Given the description of an element on the screen output the (x, y) to click on. 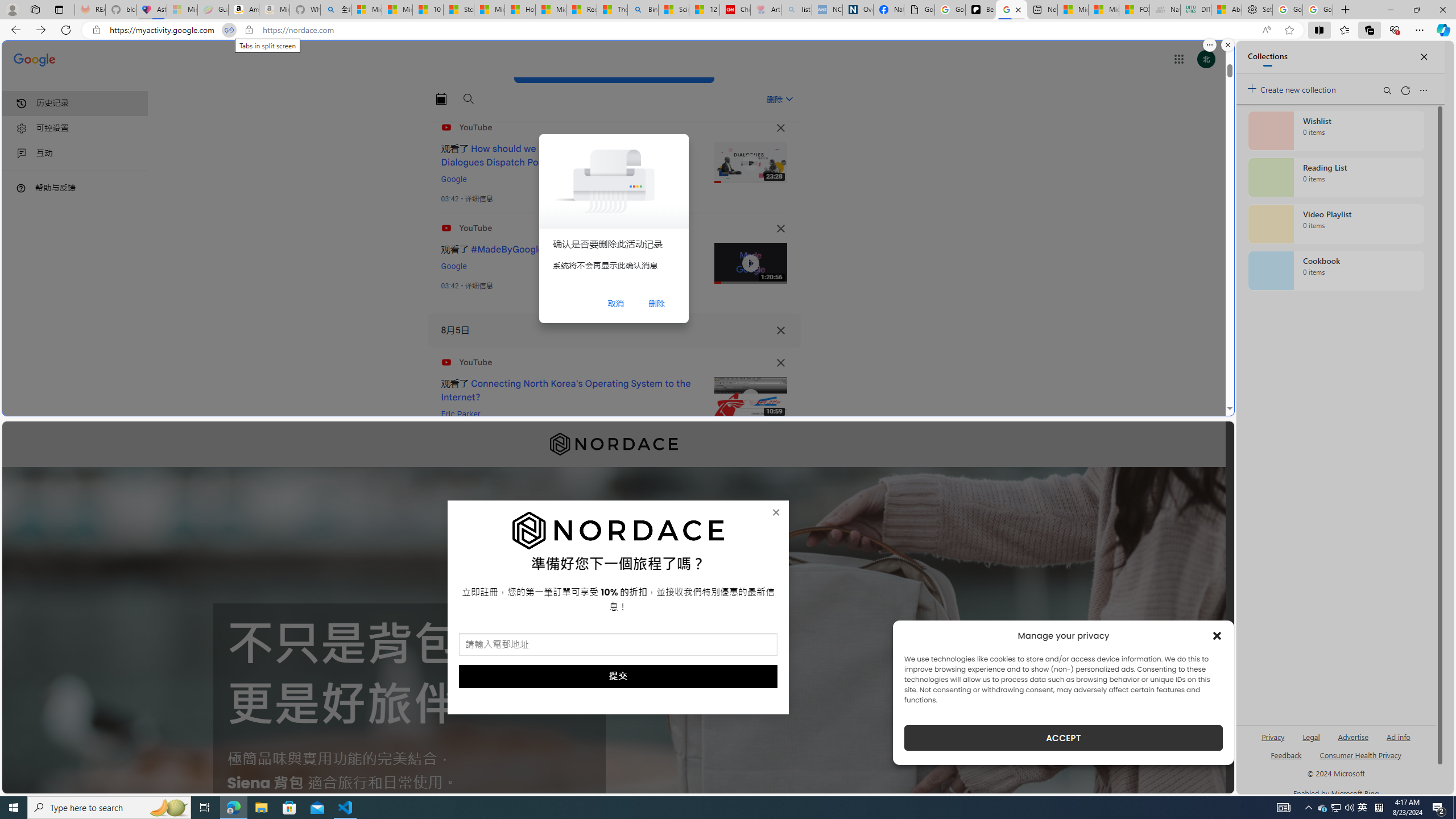
AutomationID: field_5_1 (617, 645)
Google Analytics Opt-out Browser Add-on Download Page (919, 9)
Class: DTiKkd NMm5M (21, 188)
